Given the description of an element on the screen output the (x, y) to click on. 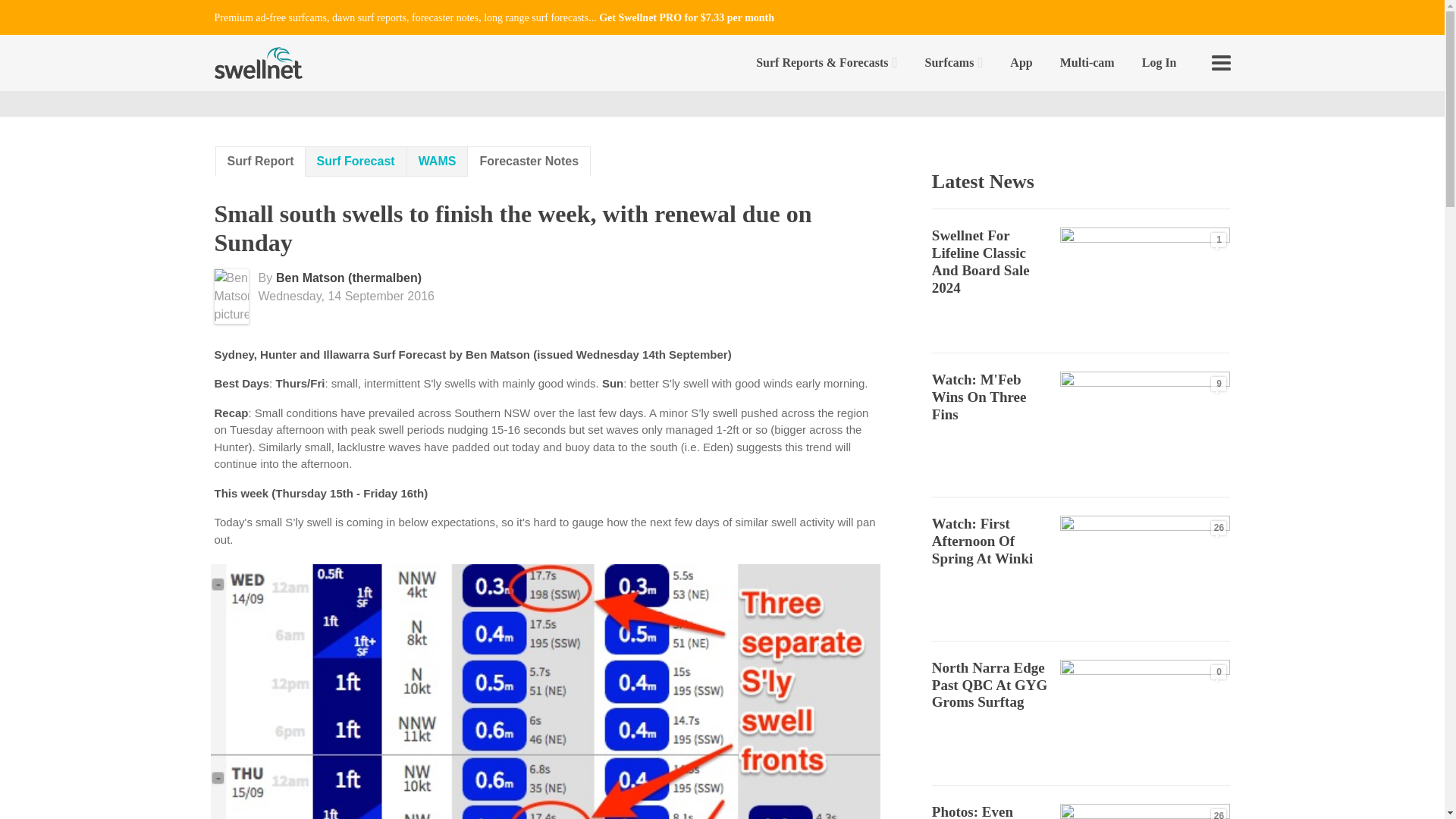
Swellnet For Lifeline Classic And Board Sale 2024 (980, 260)
Surfcams (954, 62)
Log In (1159, 62)
Surf Report (260, 161)
Forecaster Notes (529, 161)
Swellnet (257, 62)
Watch: M'Feb Wins On Three Fins (978, 396)
WAMS (437, 161)
Surf Forecast (355, 161)
Multi-cam (1087, 62)
